Given the description of an element on the screen output the (x, y) to click on. 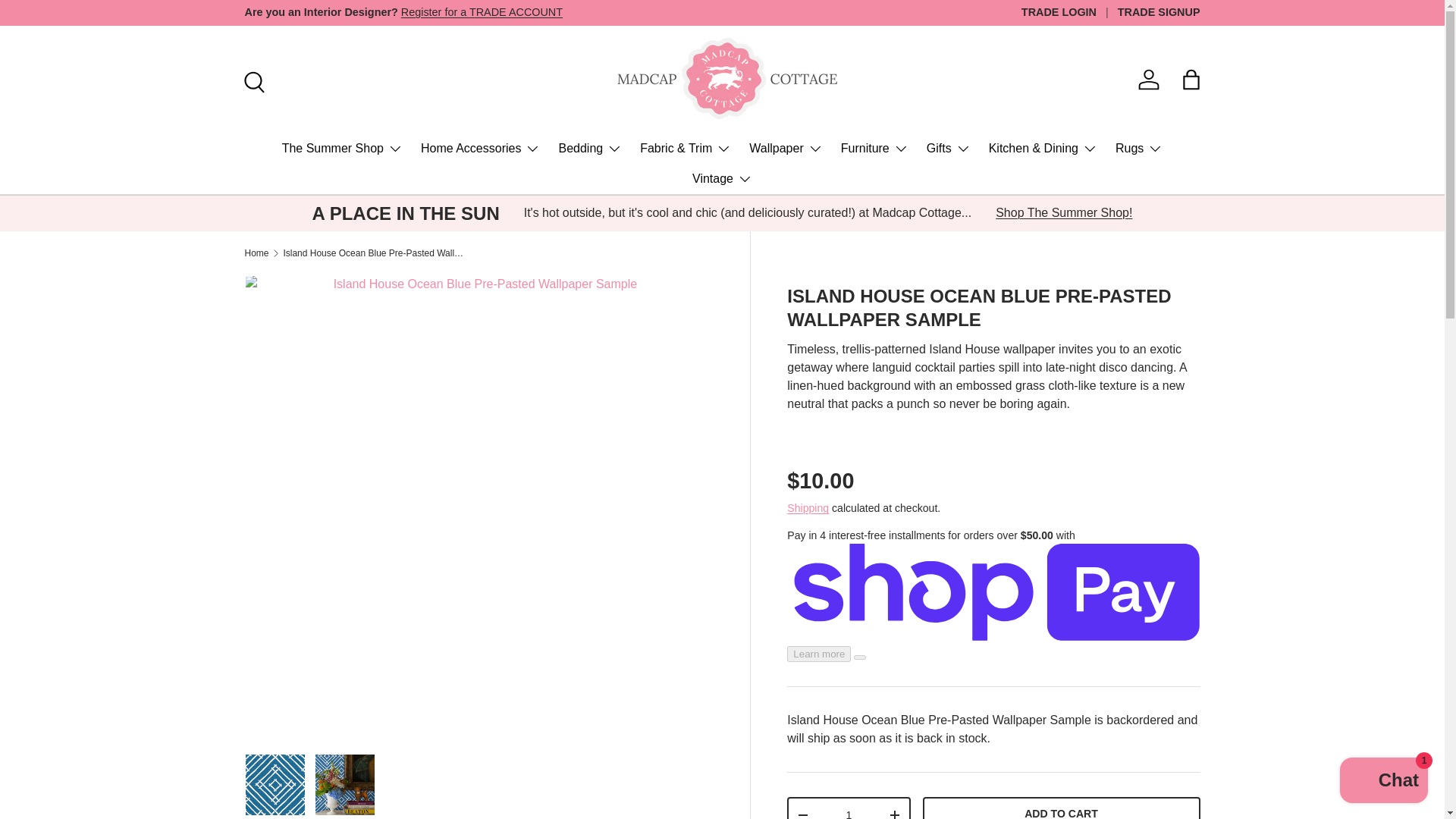
Bag (1191, 79)
TRADE SIGNUP (1158, 12)
Home Accessories (480, 148)
Register for a TRADE ACCOUNT (481, 11)
Search (250, 80)
1 (847, 809)
Shopify online store chat (1383, 781)
SKIP TO CONTENT (69, 21)
The Summer Shop (342, 148)
Log in (1149, 79)
Welcome to the Madcap Cottage Trade Portal! (481, 11)
TRADE LOGIN (1070, 12)
